Given the description of an element on the screen output the (x, y) to click on. 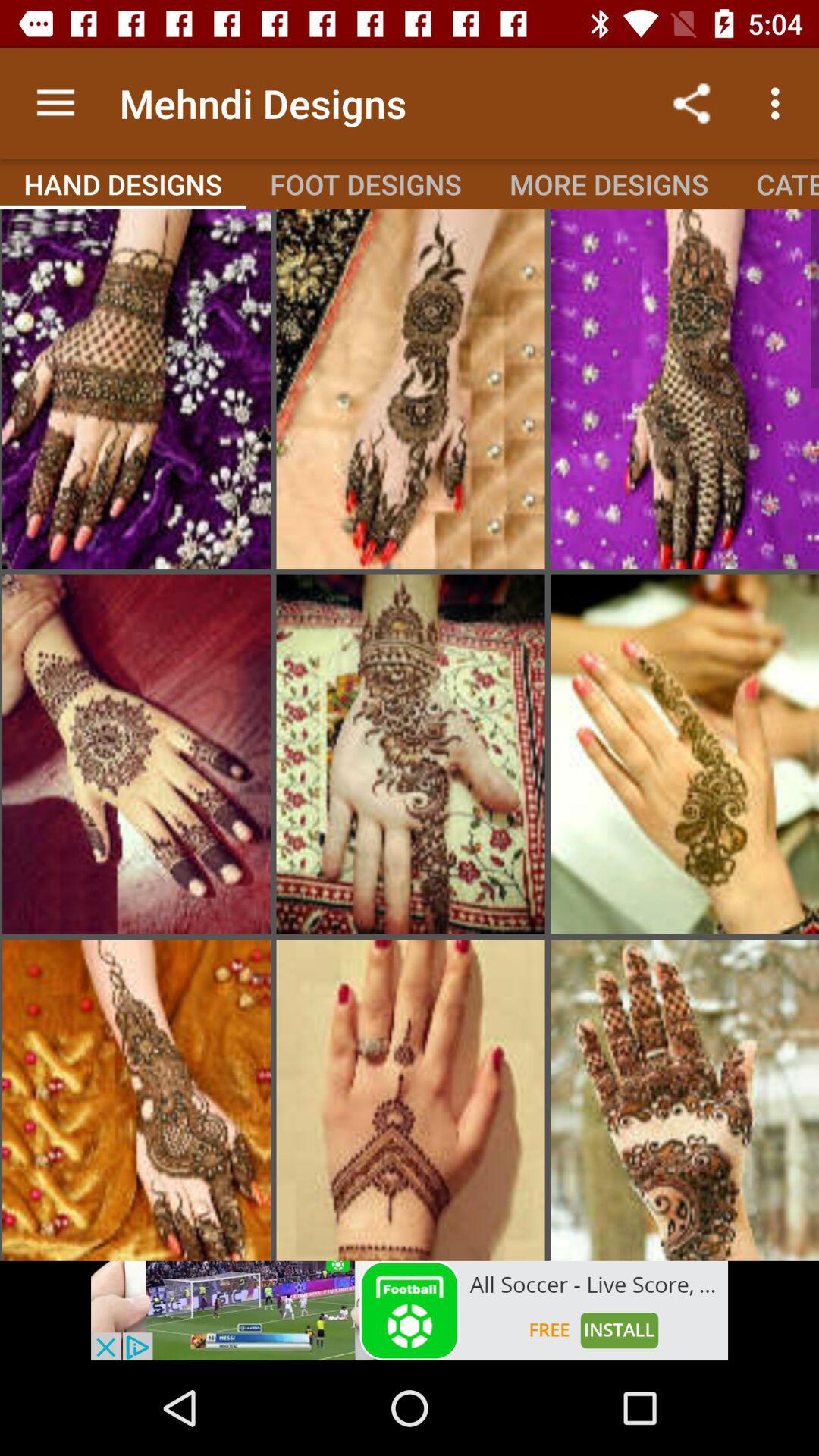
select that photo (684, 753)
